Given the description of an element on the screen output the (x, y) to click on. 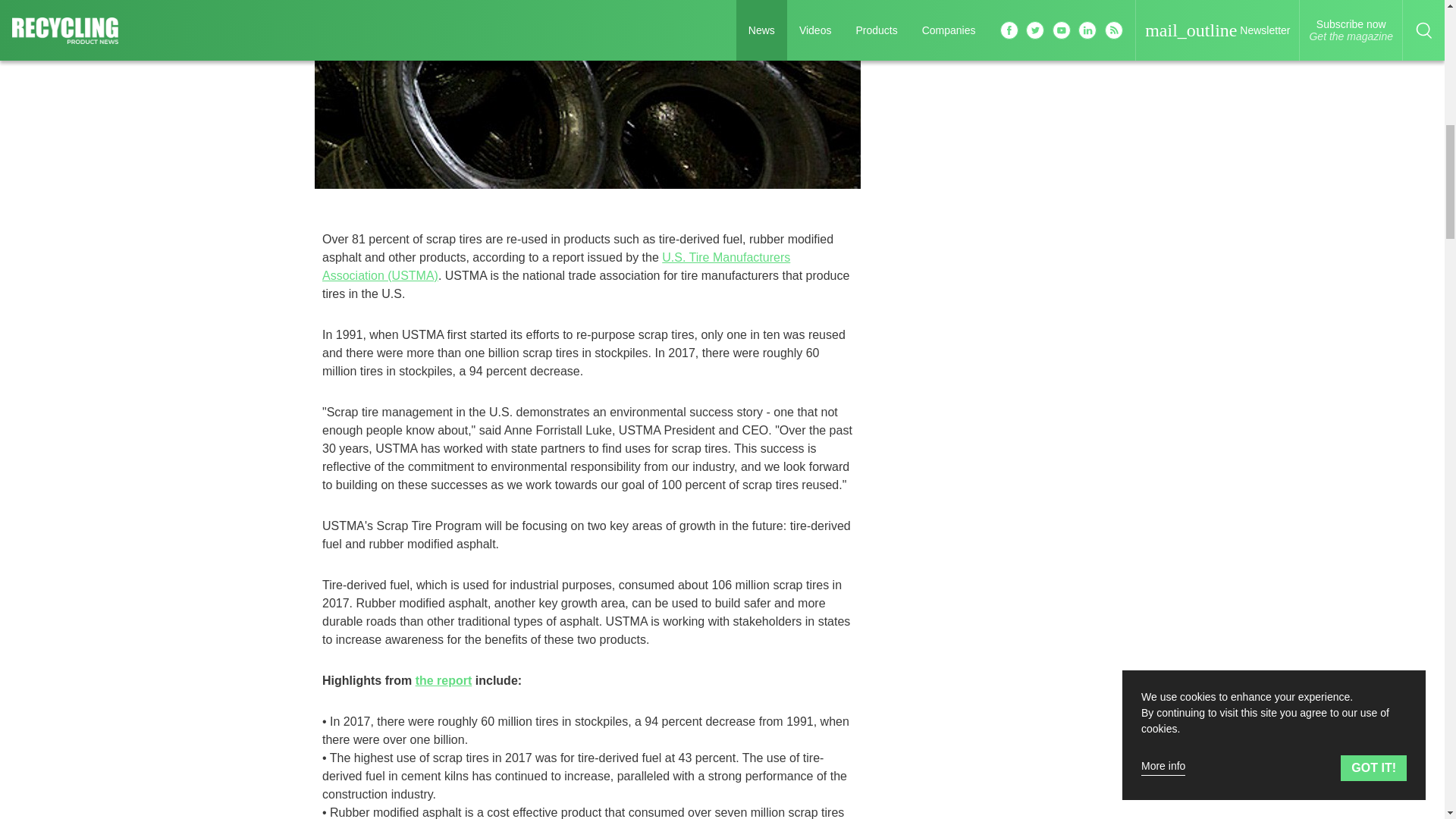
3rd party ad content (1125, 191)
the report (442, 680)
